Given the description of an element on the screen output the (x, y) to click on. 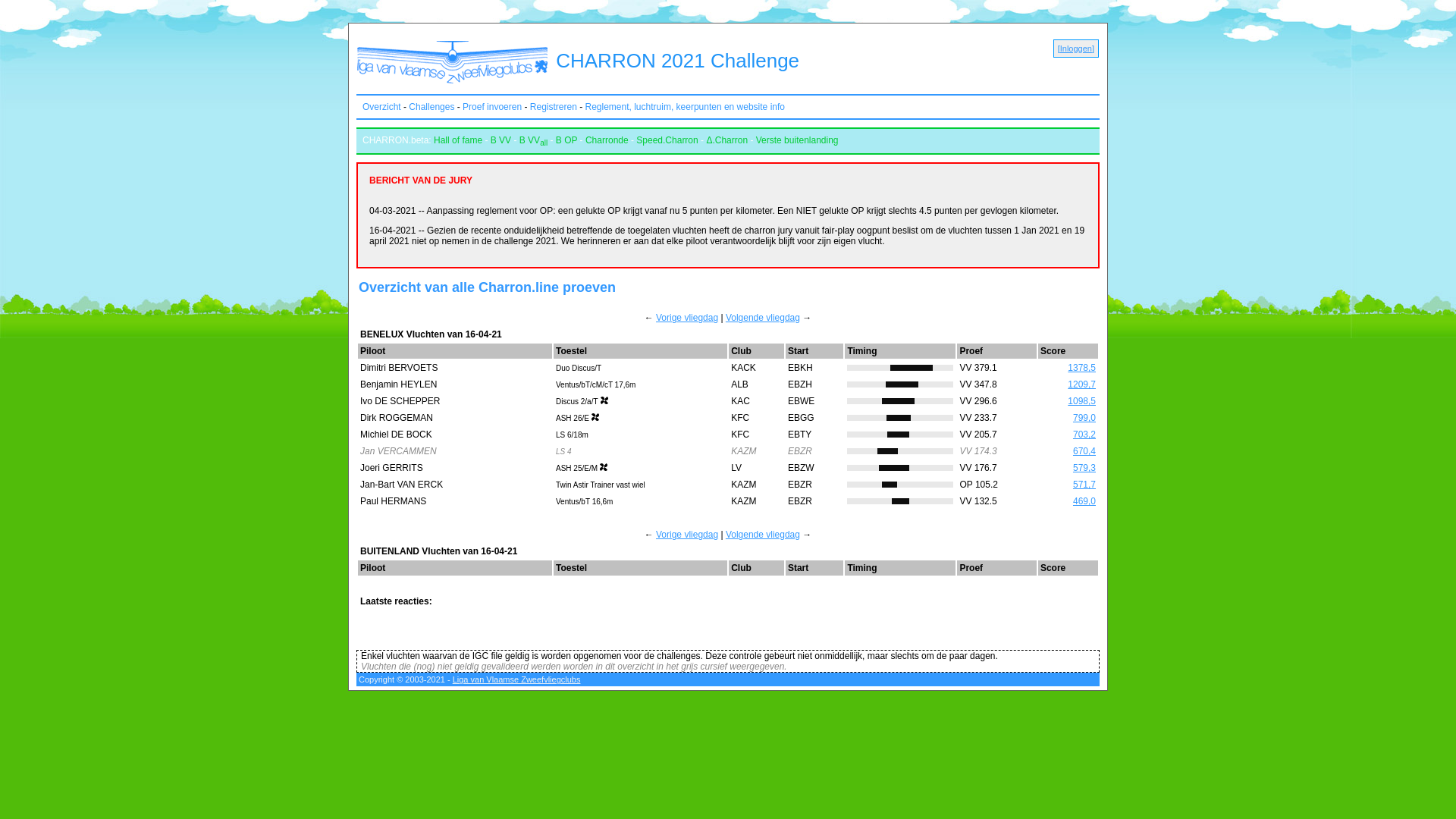
703,2 Element type: text (1084, 434)
Vorige vliegdag Element type: text (686, 317)
1378,5 Element type: text (1081, 367)
579,3 Element type: text (1084, 467)
571,7 Element type: text (1084, 484)
Proef invoeren Element type: text (491, 106)
Begin tijdsbalk: 6:00 UTC, Einde tijdsbalk: 20:00 UTC Element type: hover (899, 367)
Challenges Element type: text (431, 106)
Begin tijdsbalk: 6:00 UTC, Einde tijdsbalk: 20:00 UTC Element type: hover (899, 467)
799,0 Element type: text (1084, 417)
Begin tijdsbalk: 6:00 UTC, Einde tijdsbalk: 20:00 UTC Element type: hover (899, 484)
Speed.Charron Element type: text (666, 139)
Volgende vliegdag Element type: text (762, 317)
Liga van Vlaamse Zweefvliegclubs Element type: text (516, 679)
Begin tijdsbalk: 6:00 UTC, Einde tijdsbalk: 20:00 UTC Element type: hover (899, 500)
Begin tijdsbalk: 6:00 UTC, Einde tijdsbalk: 20:00 UTC Element type: hover (899, 417)
B OP Element type: text (566, 139)
B VV Element type: text (500, 139)
Volgende vliegdag Element type: text (762, 534)
Hall of fame Element type: text (457, 139)
Reglement, luchtruim, keerpunten en website info Element type: text (684, 106)
Vorige vliegdag Element type: text (686, 534)
Verste buitenlanding Element type: text (797, 139)
469,0 Element type: text (1084, 500)
Begin tijdsbalk: 6:00 UTC, Einde tijdsbalk: 20:00 UTC Element type: hover (899, 400)
670,4 Element type: text (1084, 450)
Begin tijdsbalk: 6:00 UTC, Einde tijdsbalk: 20:00 UTC Element type: hover (899, 450)
Begin tijdsbalk: 6:00 UTC, Einde tijdsbalk: 20:00 UTC Element type: hover (899, 434)
Inloggen Element type: text (1076, 48)
Registreren Element type: text (553, 106)
Begin tijdsbalk: 6:00 UTC, Einde tijdsbalk: 20:00 UTC Element type: hover (899, 384)
B VVall Element type: text (533, 139)
Charronde Element type: text (606, 139)
Overzicht Element type: text (381, 106)
1209,7 Element type: text (1081, 384)
1098,5 Element type: text (1081, 400)
